Given the description of an element on the screen output the (x, y) to click on. 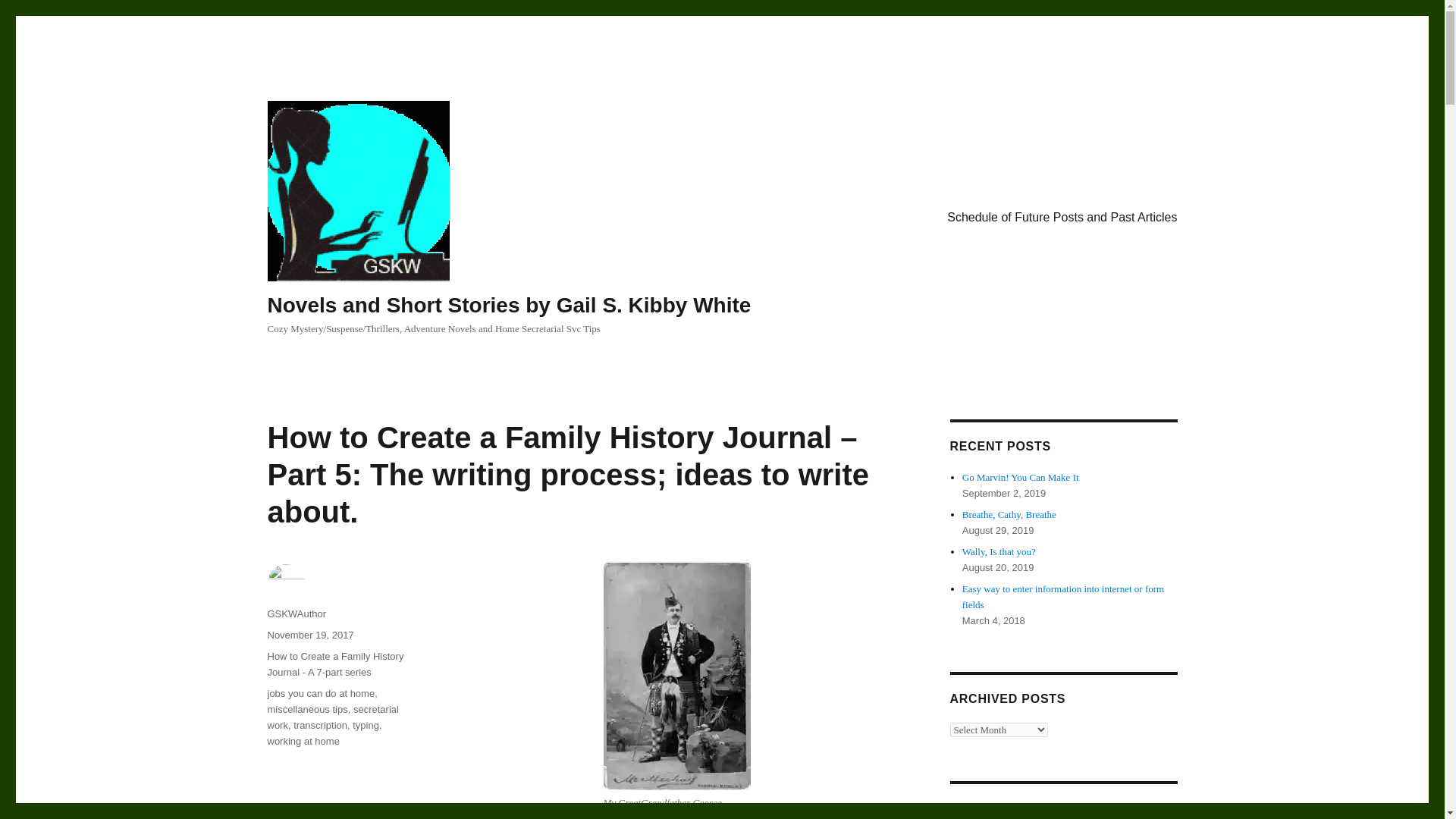
Easy way to enter information into internet or form fields (1062, 596)
November 19, 2017 (309, 634)
Breathe, Cathy, Breathe (1009, 514)
Schedule of Future Posts and Past Articles (1062, 217)
miscellaneous tips (306, 708)
Wally, Is that you? (998, 551)
GSKWAuthor (296, 613)
How to Create a Family History Journal - A 7-part series (334, 664)
Novels and Short Stories by Gail S. Kibby White (508, 304)
jobs you can do at home (320, 693)
Go Marvin! You Can Make It (1020, 477)
transcription (320, 725)
typing (365, 725)
secretarial work (331, 717)
working at home (302, 740)
